Given the description of an element on the screen output the (x, y) to click on. 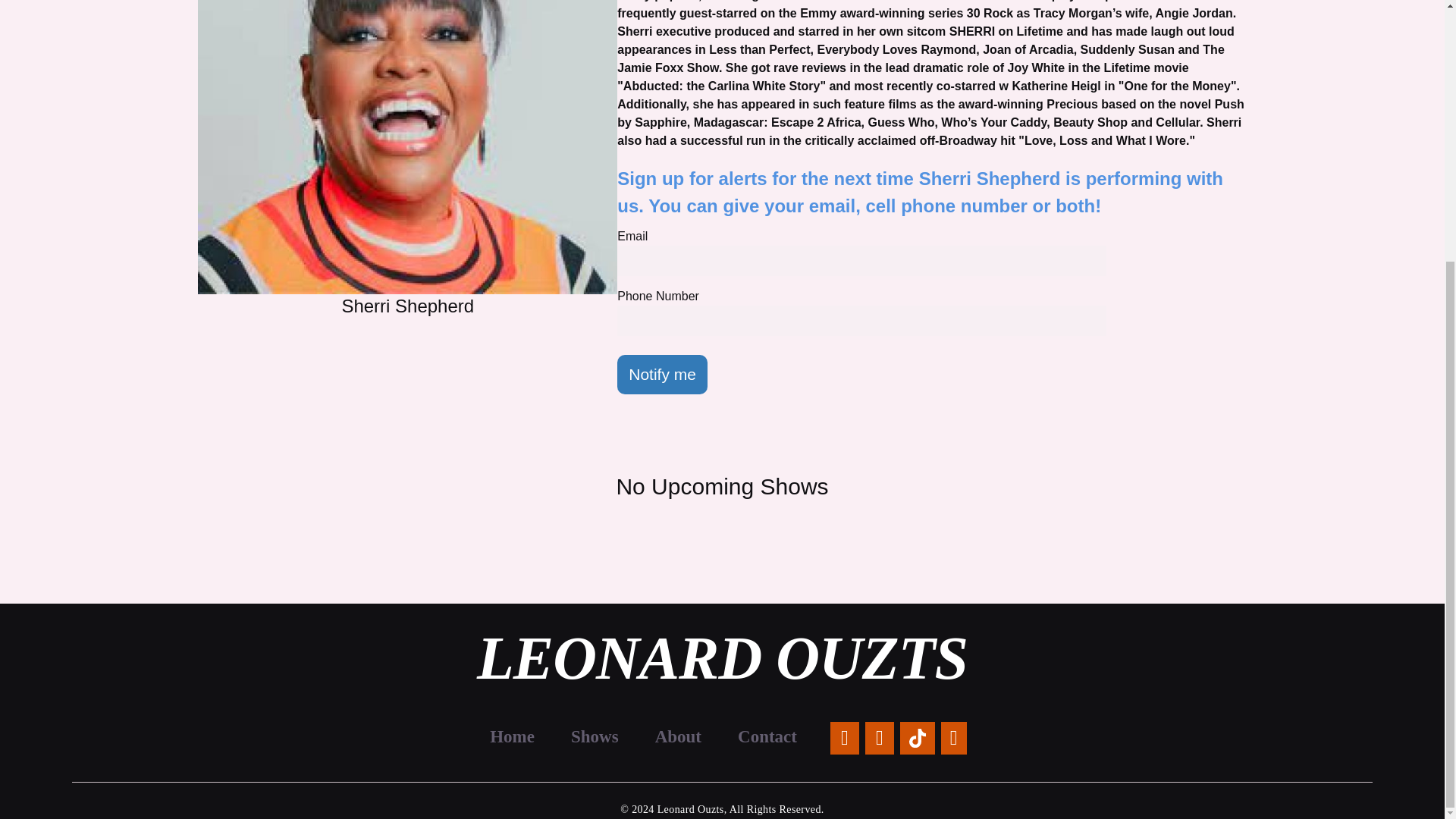
Contact (767, 736)
Home (511, 736)
About (678, 736)
LEONARD OUZTS (722, 674)
Notify me (662, 373)
Shows (594, 736)
Sherri Shepherd (407, 147)
